Given the description of an element on the screen output the (x, y) to click on. 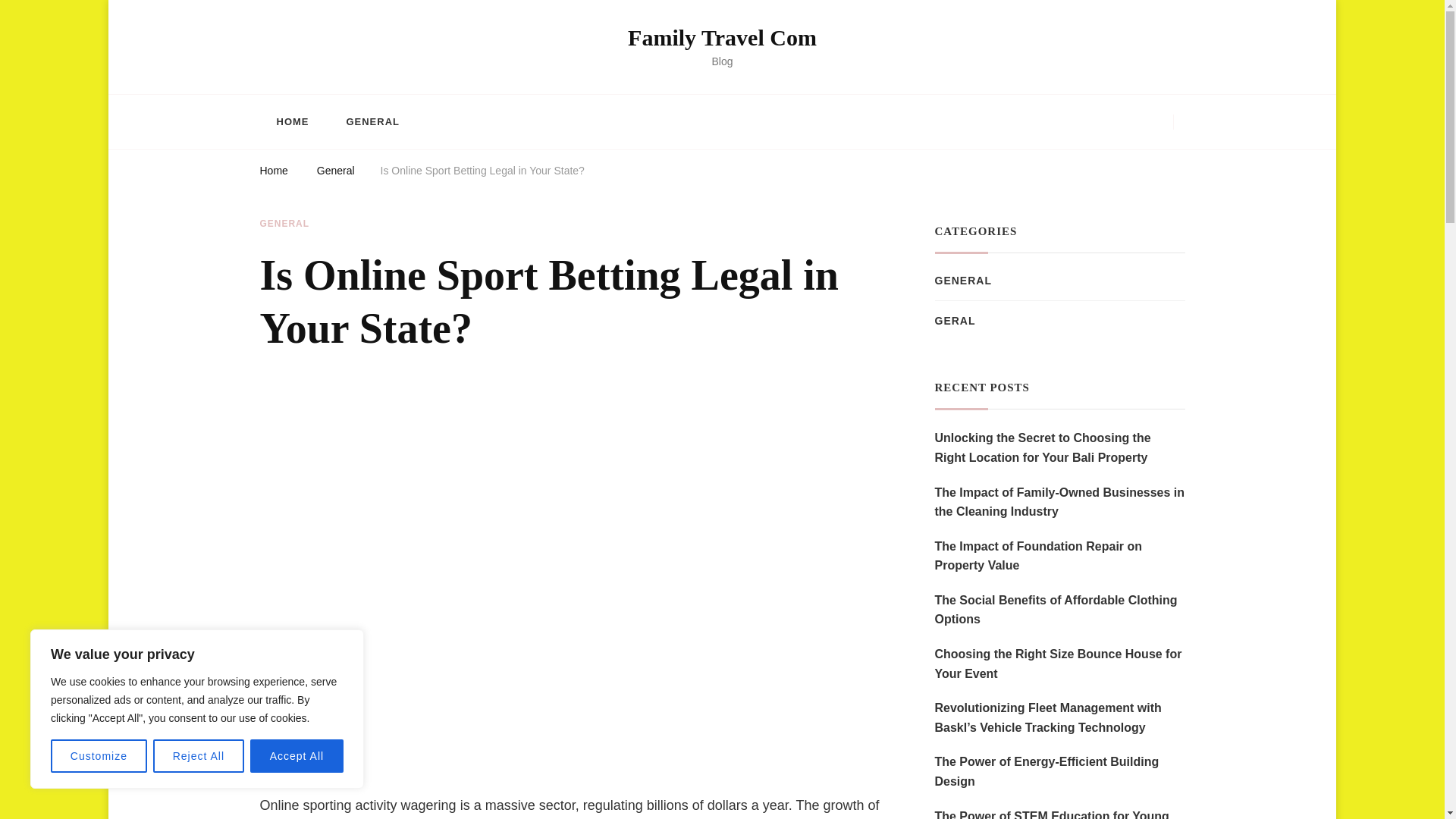
Is Online Sport Betting Legal in Your State? (482, 172)
HOME (291, 121)
Accept All (296, 756)
Home (272, 172)
General (336, 172)
GENERAL (283, 223)
Customize (98, 756)
Family Travel Com (721, 37)
Reject All (198, 756)
GENERAL (371, 121)
